Given the description of an element on the screen output the (x, y) to click on. 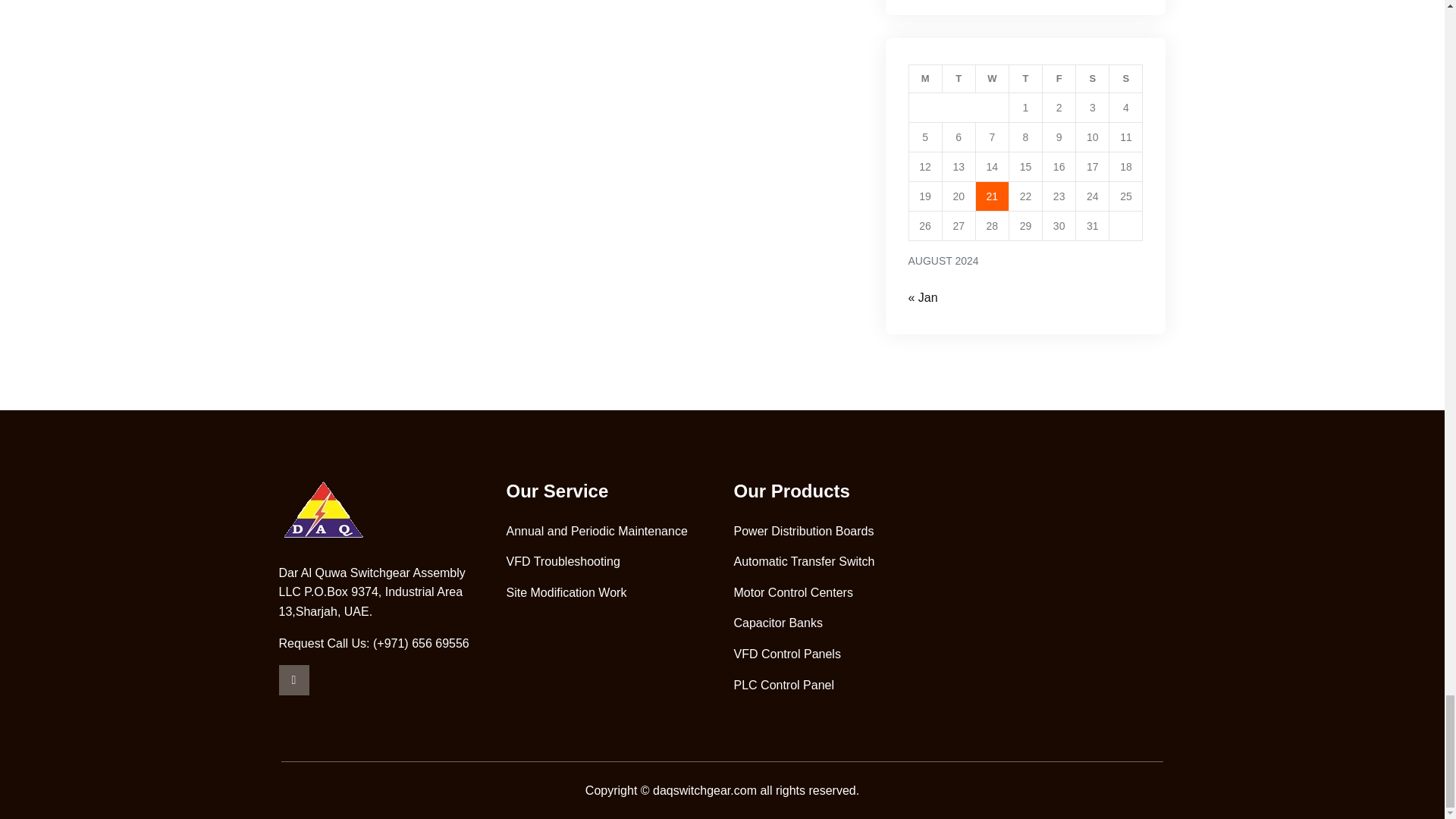
Thursday (1025, 79)
Sunday (1125, 79)
Tuesday (958, 79)
Friday (1058, 79)
Wednesday (992, 79)
Monday (925, 79)
Saturday (1092, 79)
Facebook (293, 680)
